Given the description of an element on the screen output the (x, y) to click on. 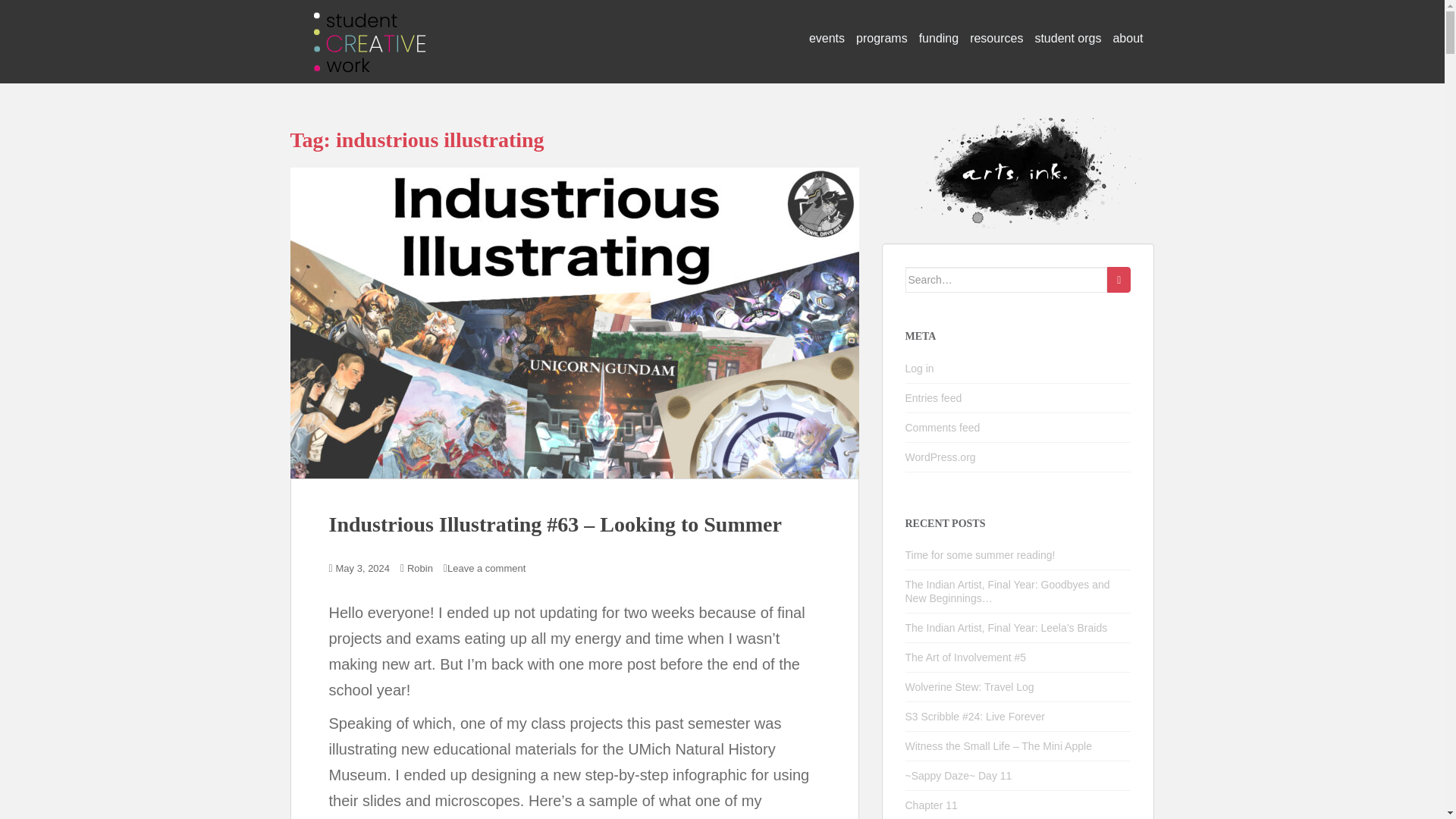
student orgs (1066, 38)
resources (996, 38)
about (1127, 38)
Search for: (1006, 279)
events (826, 38)
arts, ink. (368, 26)
Leave a comment (485, 568)
May 3, 2024 (363, 568)
Robin (419, 568)
programs (881, 38)
funding (938, 38)
